Given the description of an element on the screen output the (x, y) to click on. 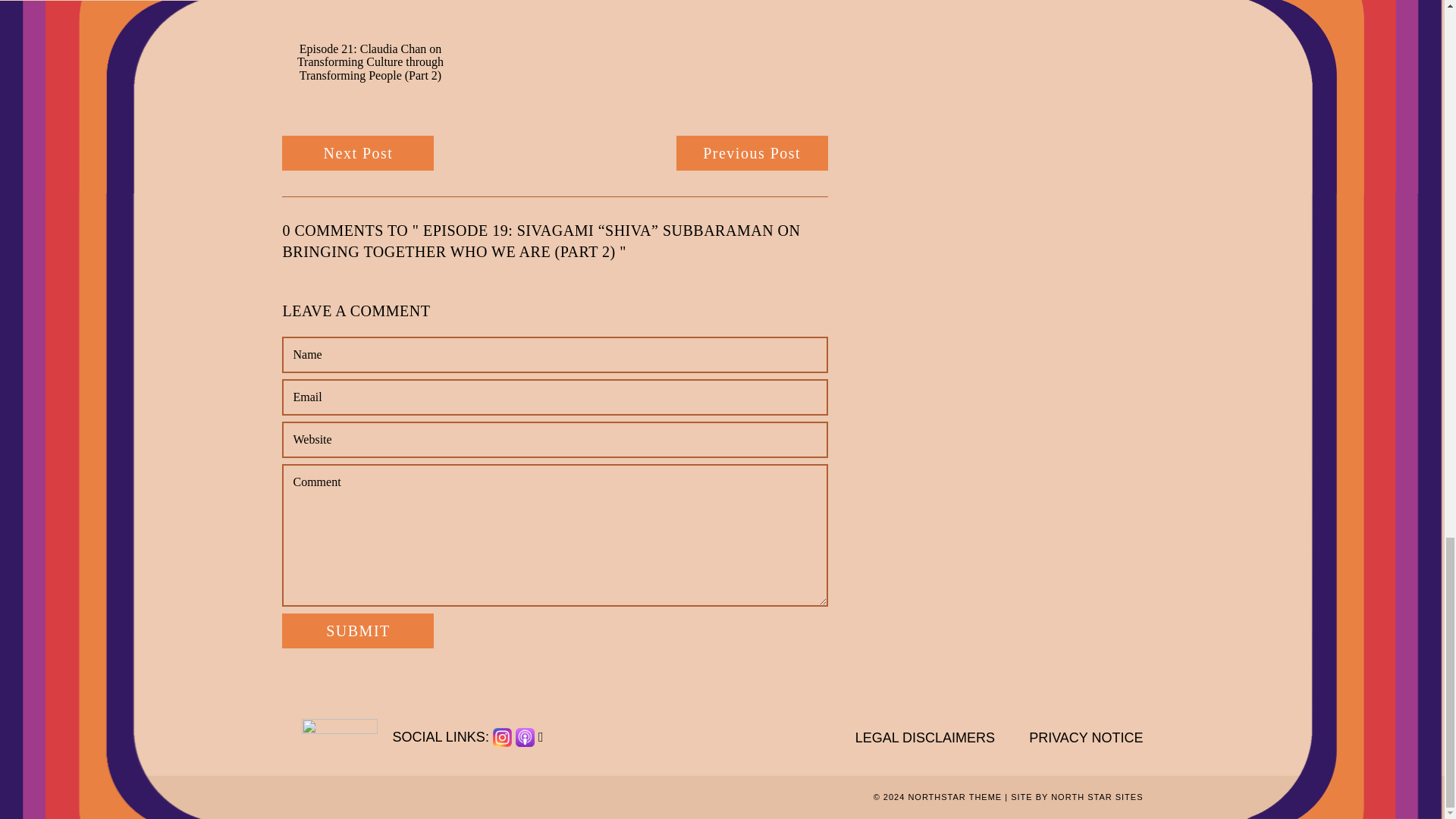
SUBMIT (357, 630)
